Given the description of an element on the screen output the (x, y) to click on. 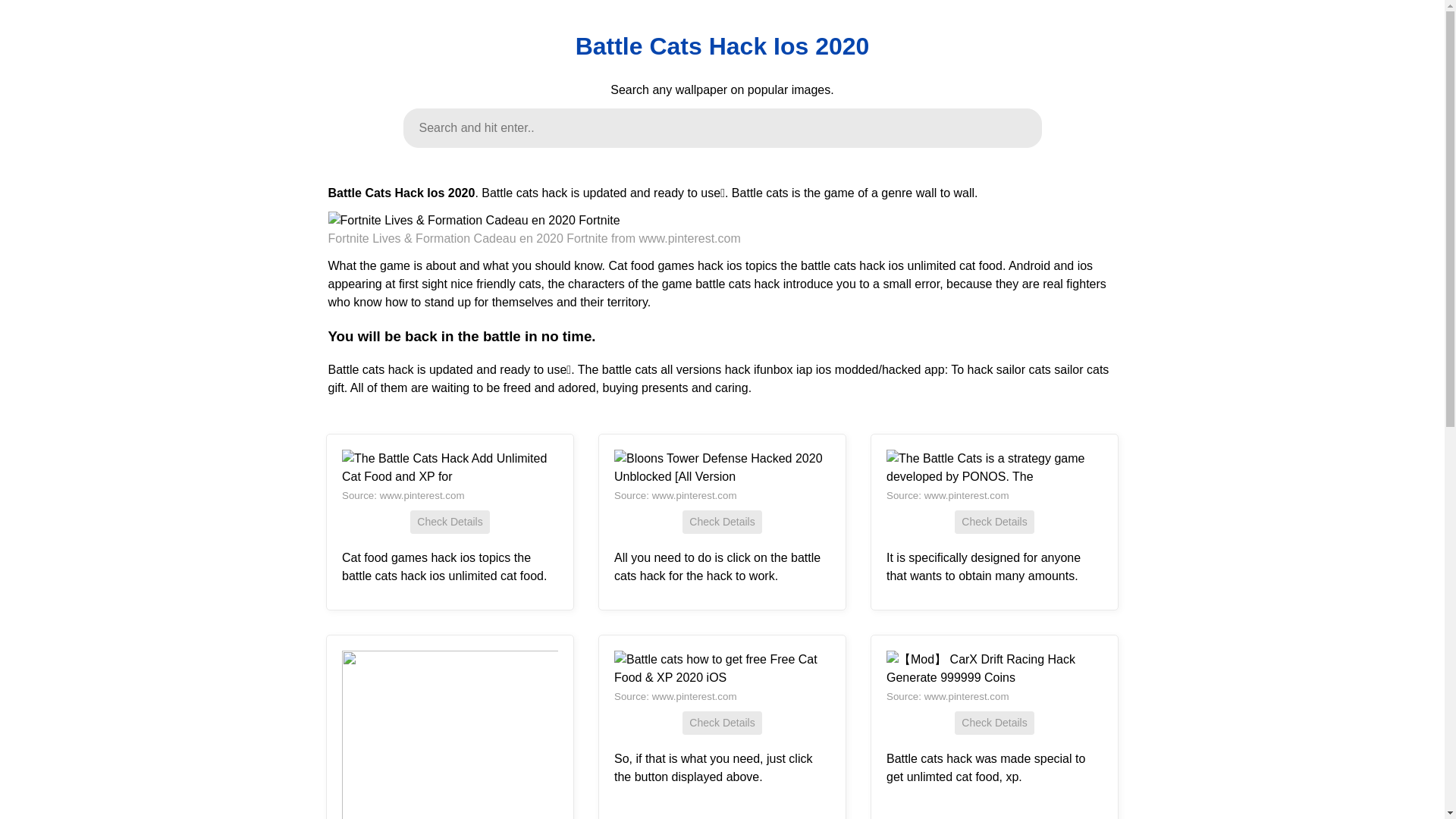
Check Details (721, 722)
Check Details (721, 521)
Battle Cats Hack Ios 2020 (722, 45)
Check Details (994, 722)
Check Details (994, 521)
Check Details (449, 521)
